Given the description of an element on the screen output the (x, y) to click on. 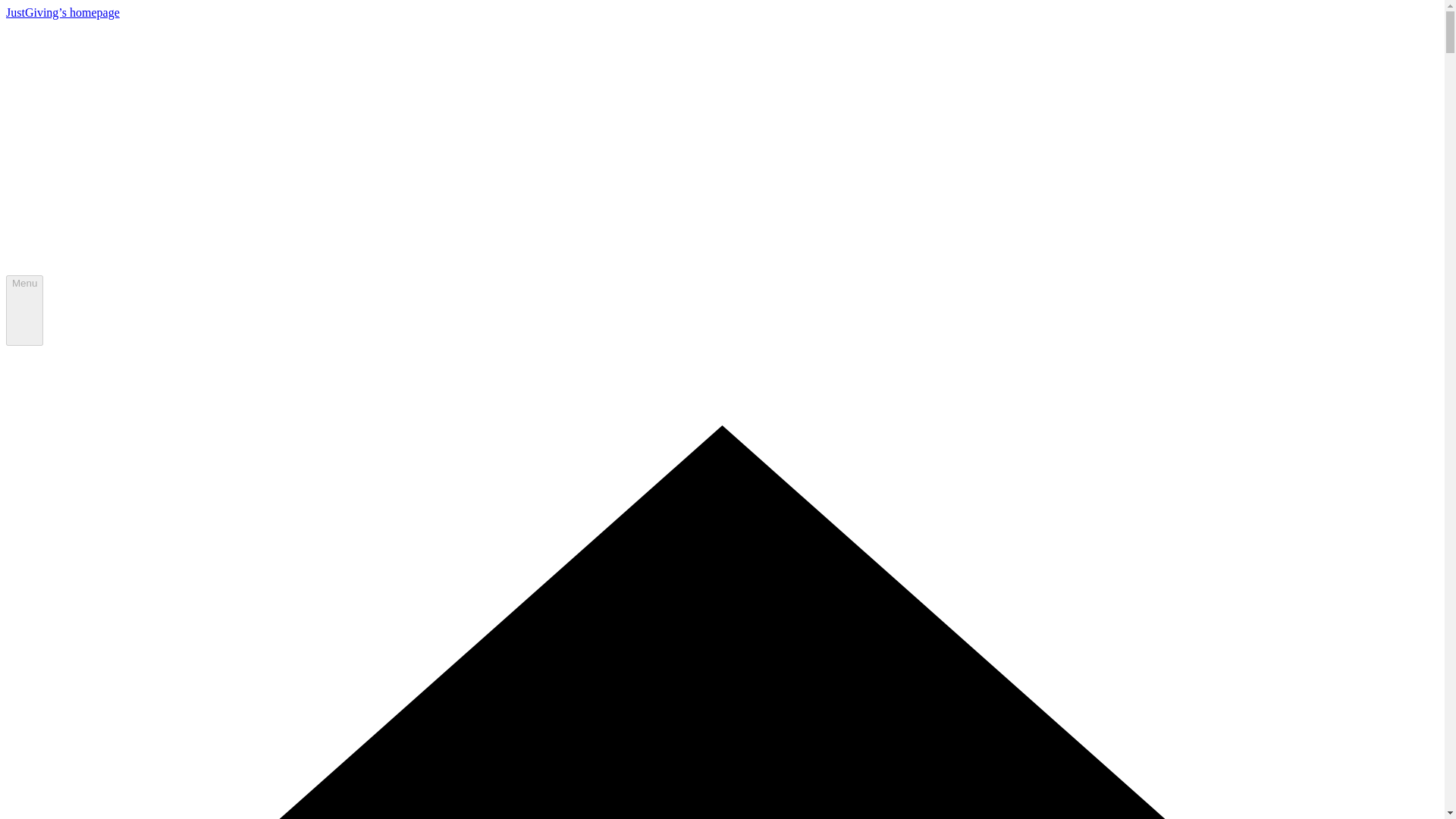
Menu (24, 310)
